Given the description of an element on the screen output the (x, y) to click on. 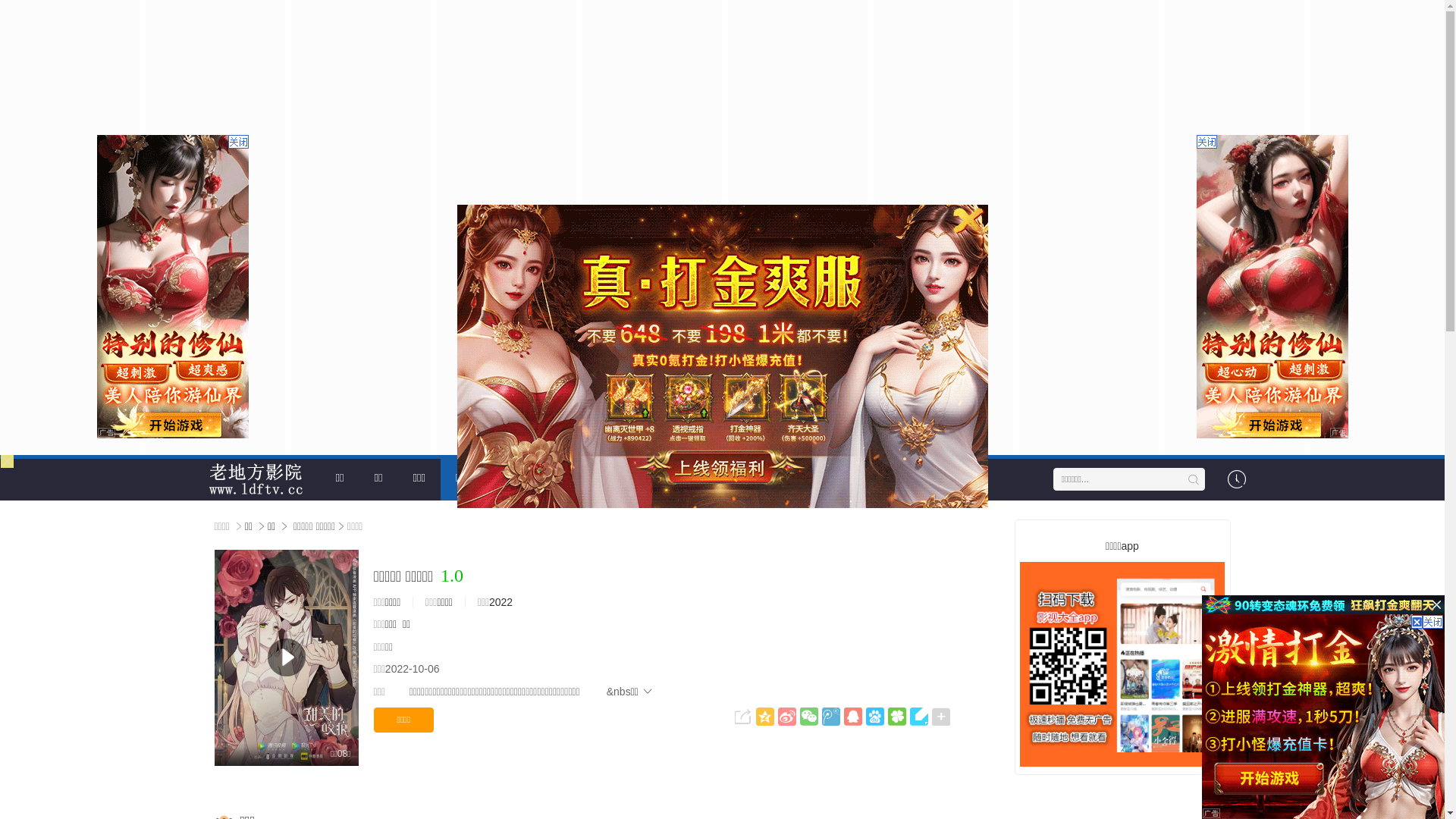
2022 Element type: text (500, 602)
